Given the description of an element on the screen output the (x, y) to click on. 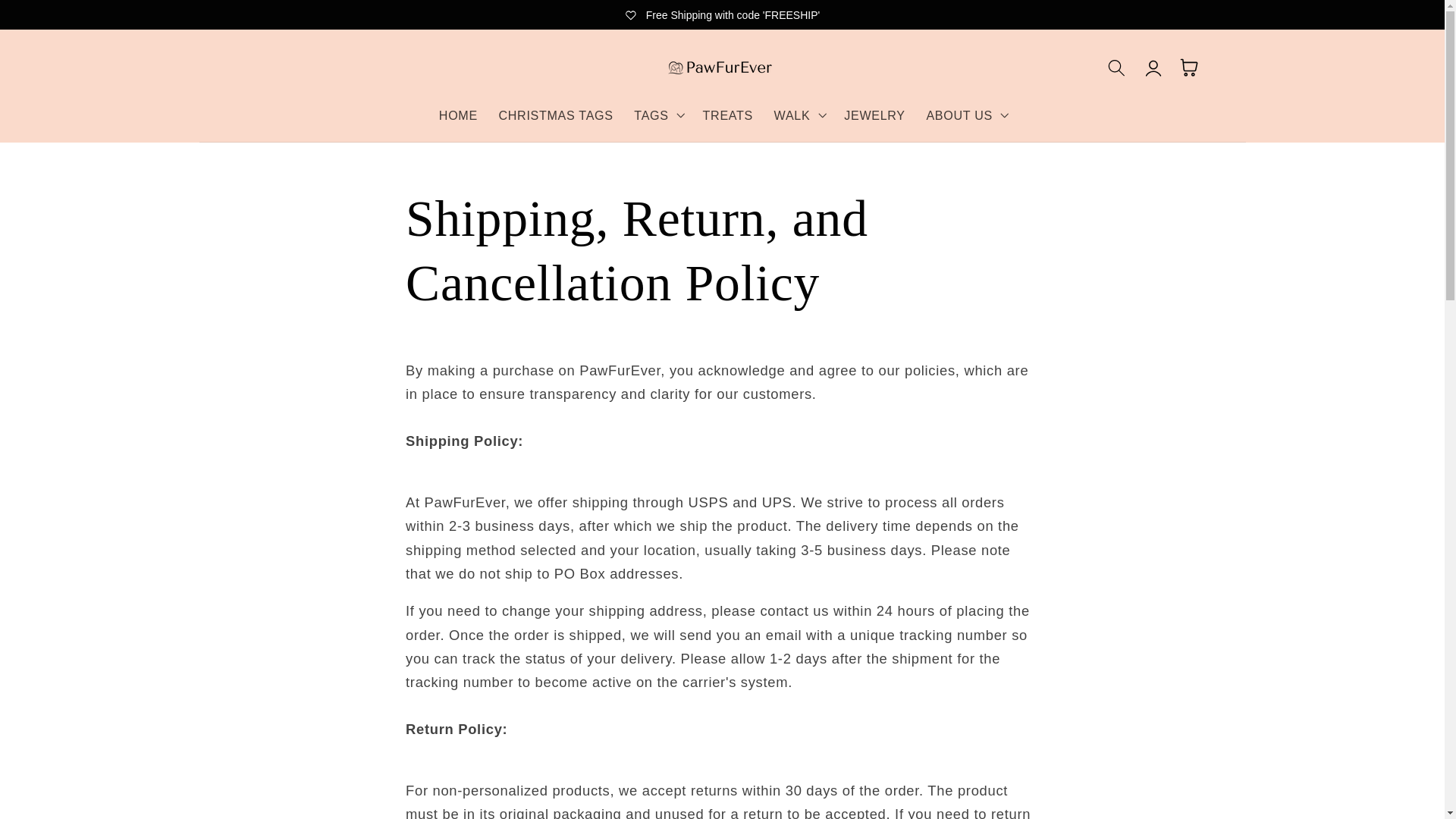
CHRISTMAS TAGS (555, 115)
TREATS (727, 115)
Skip to content (51, 19)
JEWELRY (873, 115)
HOME (457, 115)
